Given the description of an element on the screen output the (x, y) to click on. 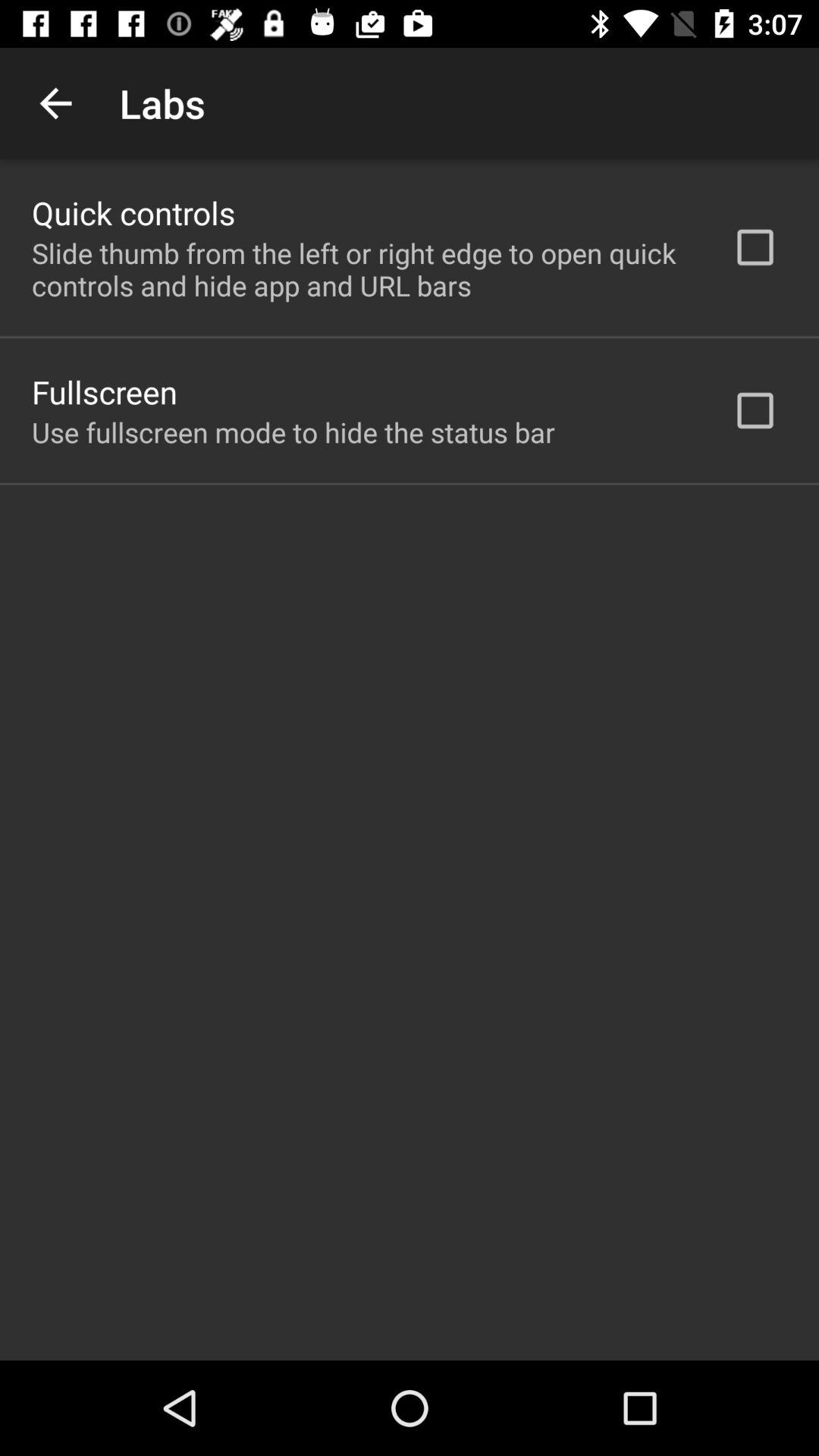
click item below the quick controls item (361, 269)
